Given the description of an element on the screen output the (x, y) to click on. 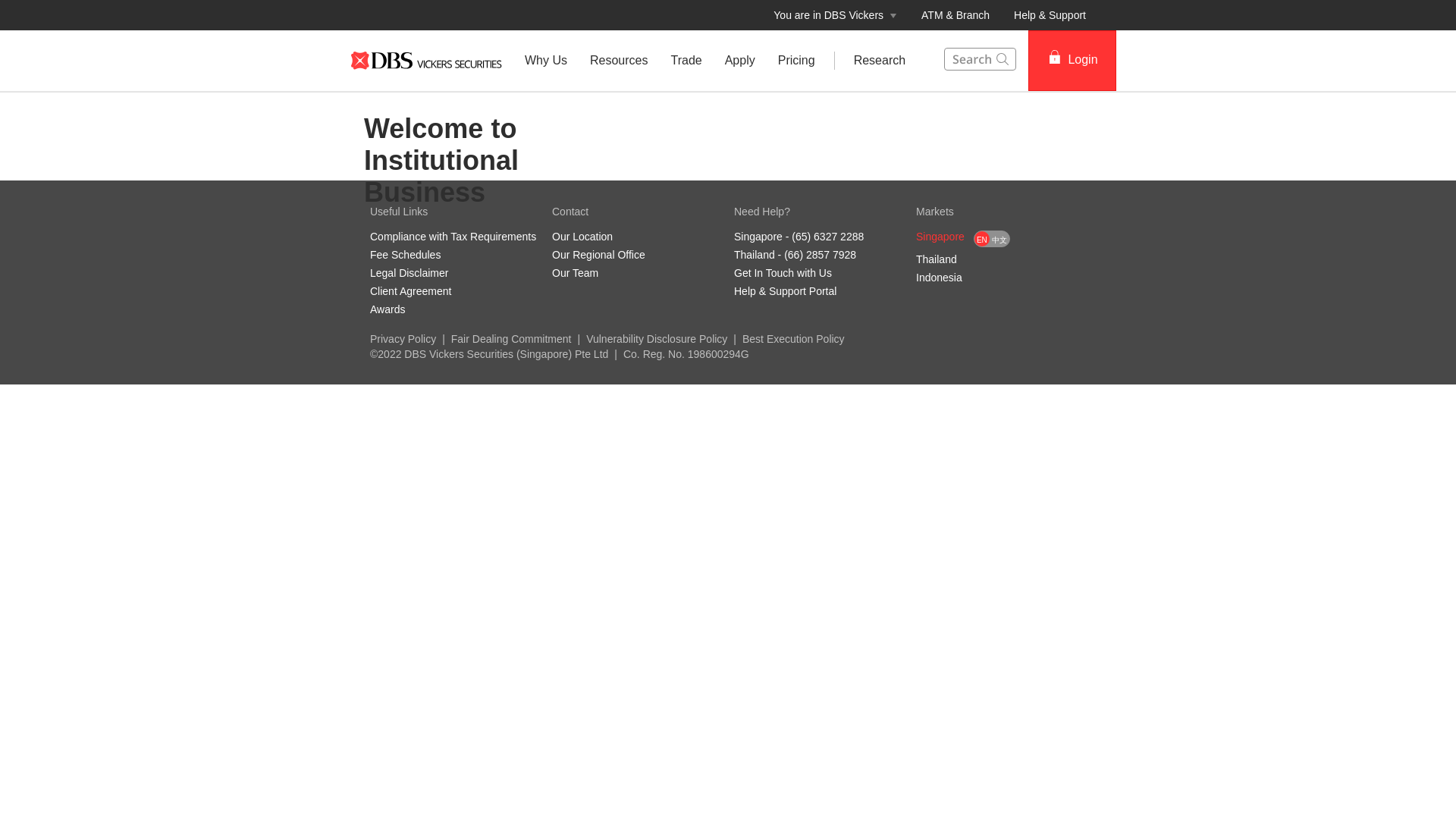
Pricing (797, 60)
You are in DBS Vickers (834, 15)
Trade (686, 60)
Research (880, 60)
Login (1071, 60)
Resources (618, 60)
Apply (740, 60)
Why Us (545, 60)
